Given the description of an element on the screen output the (x, y) to click on. 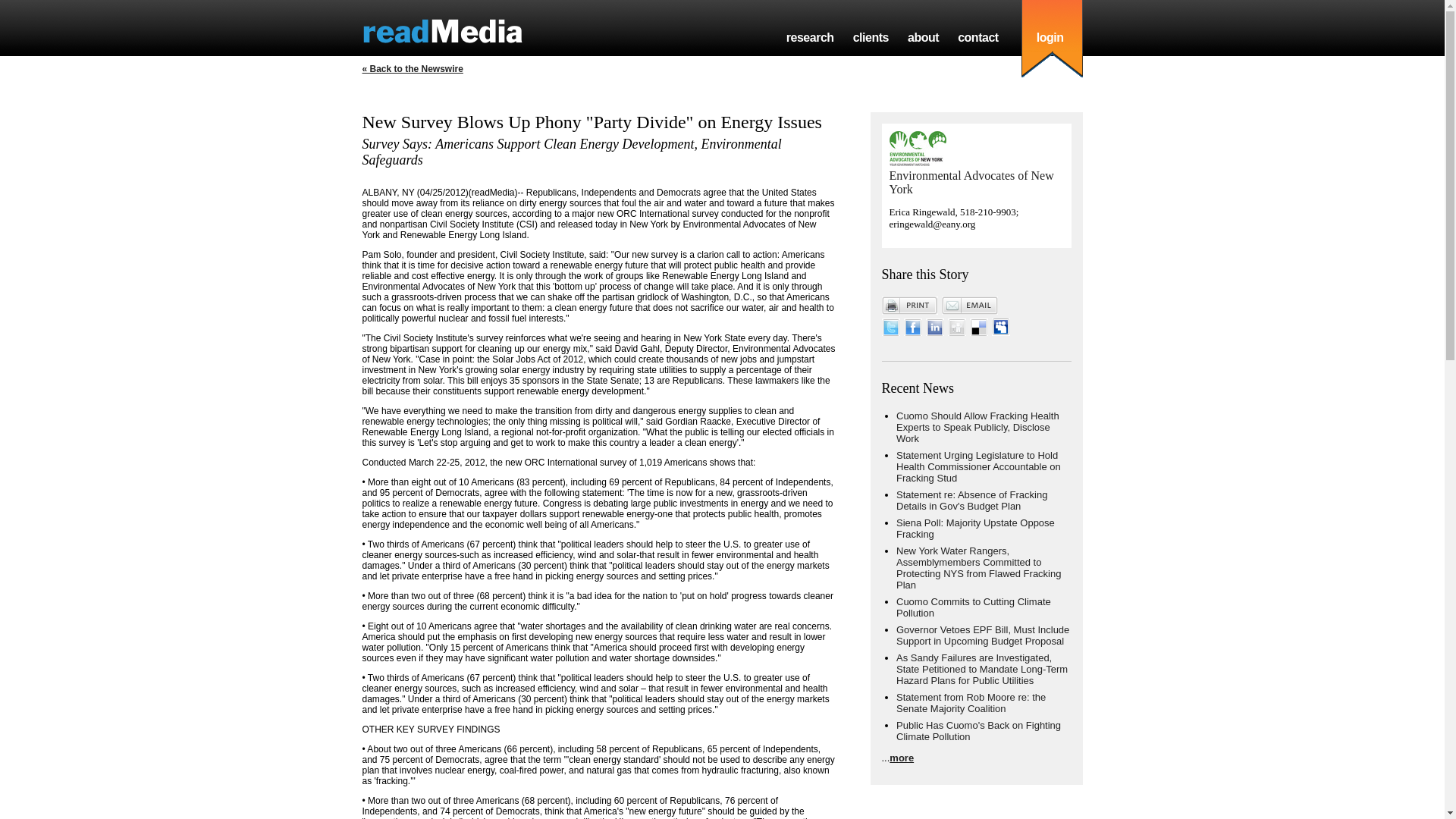
Post to LinkedIn (933, 332)
Cuomo Commits to Cutting Climate Pollution (973, 607)
Siena Poll: Majority Upstate Oppose Fracking (975, 527)
Post to Digg (956, 332)
Post to Twitter (889, 332)
Post to Delicious (978, 332)
login (1050, 37)
more (901, 757)
Post to Facebook (912, 332)
research (810, 37)
Environmental Advocates of New York (970, 181)
